Given the description of an element on the screen output the (x, y) to click on. 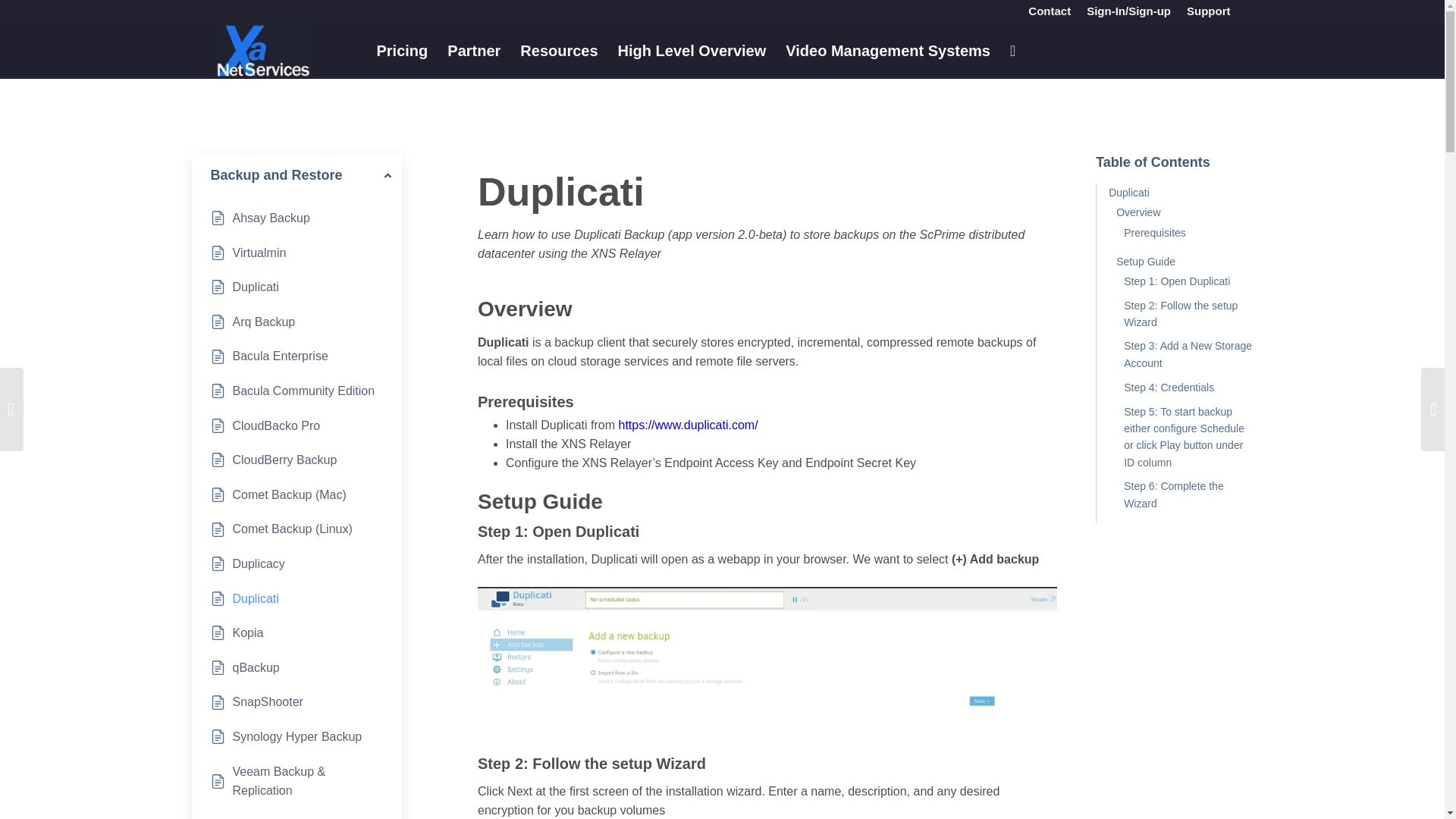
Support (1208, 11)
Pricing (402, 50)
Resources (559, 50)
Partner (474, 50)
Contact (1048, 11)
Video Management Systems (888, 50)
High Level Overview (692, 50)
